Given the description of an element on the screen output the (x, y) to click on. 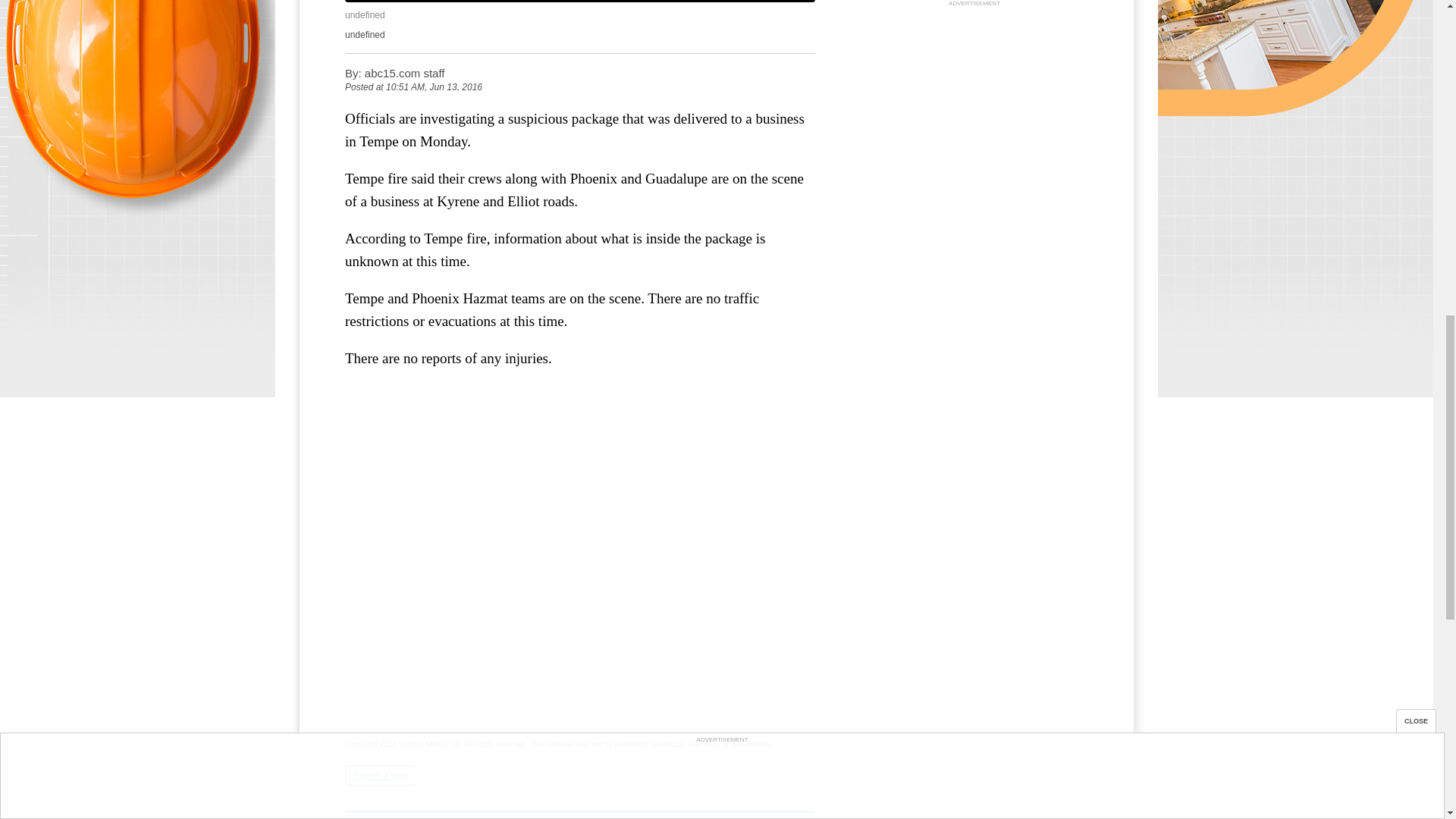
3rd party ad content (973, 104)
